Given the description of an element on the screen output the (x, y) to click on. 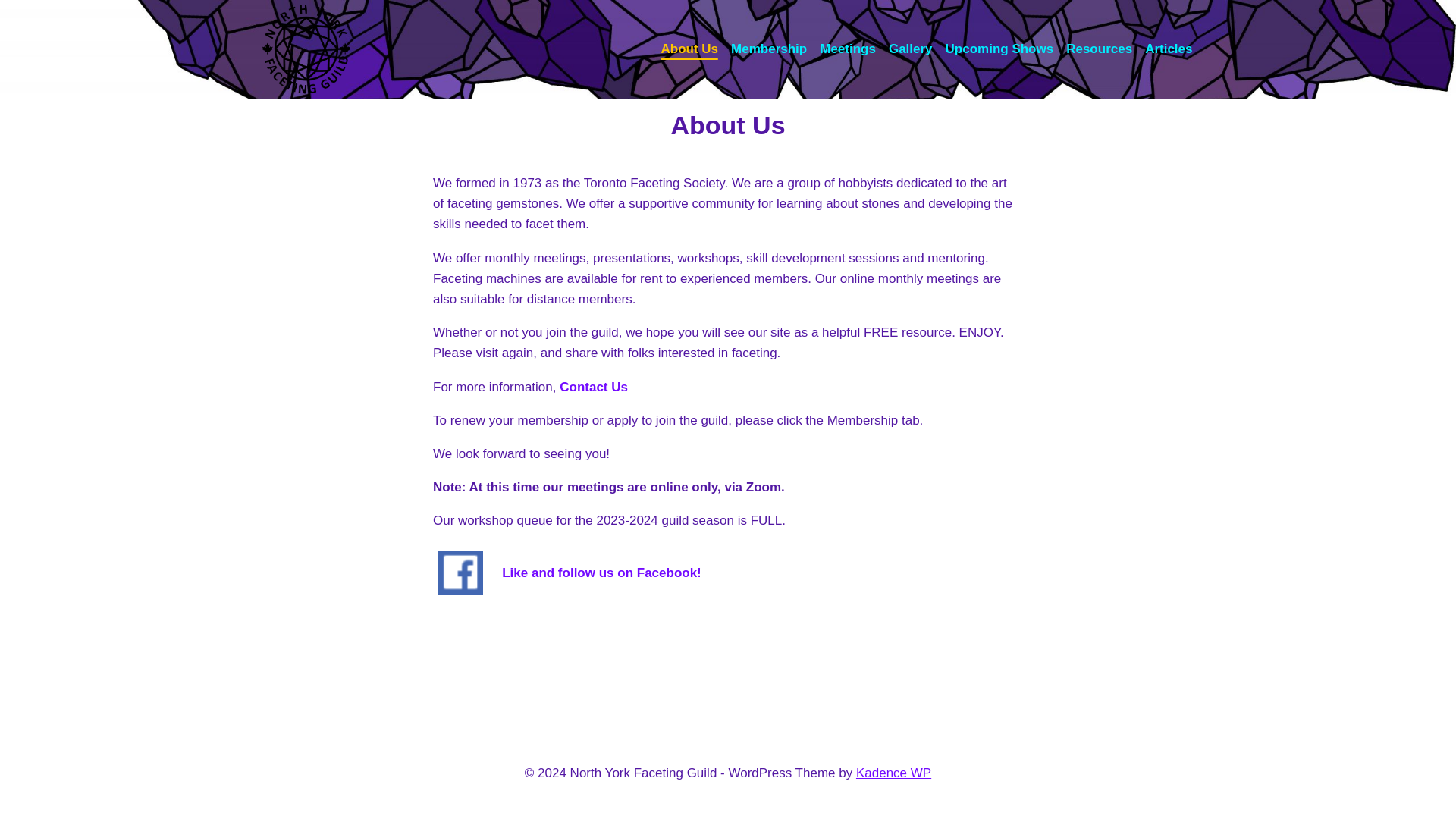
Gallery (910, 48)
Kadence WP (893, 772)
Like and follow us on Facebook! (601, 572)
Resources (1098, 48)
Articles (1168, 48)
Membership (769, 48)
Meetings (847, 48)
Contact Us (593, 386)
Upcoming Shows (999, 48)
About Us (689, 48)
